Given the description of an element on the screen output the (x, y) to click on. 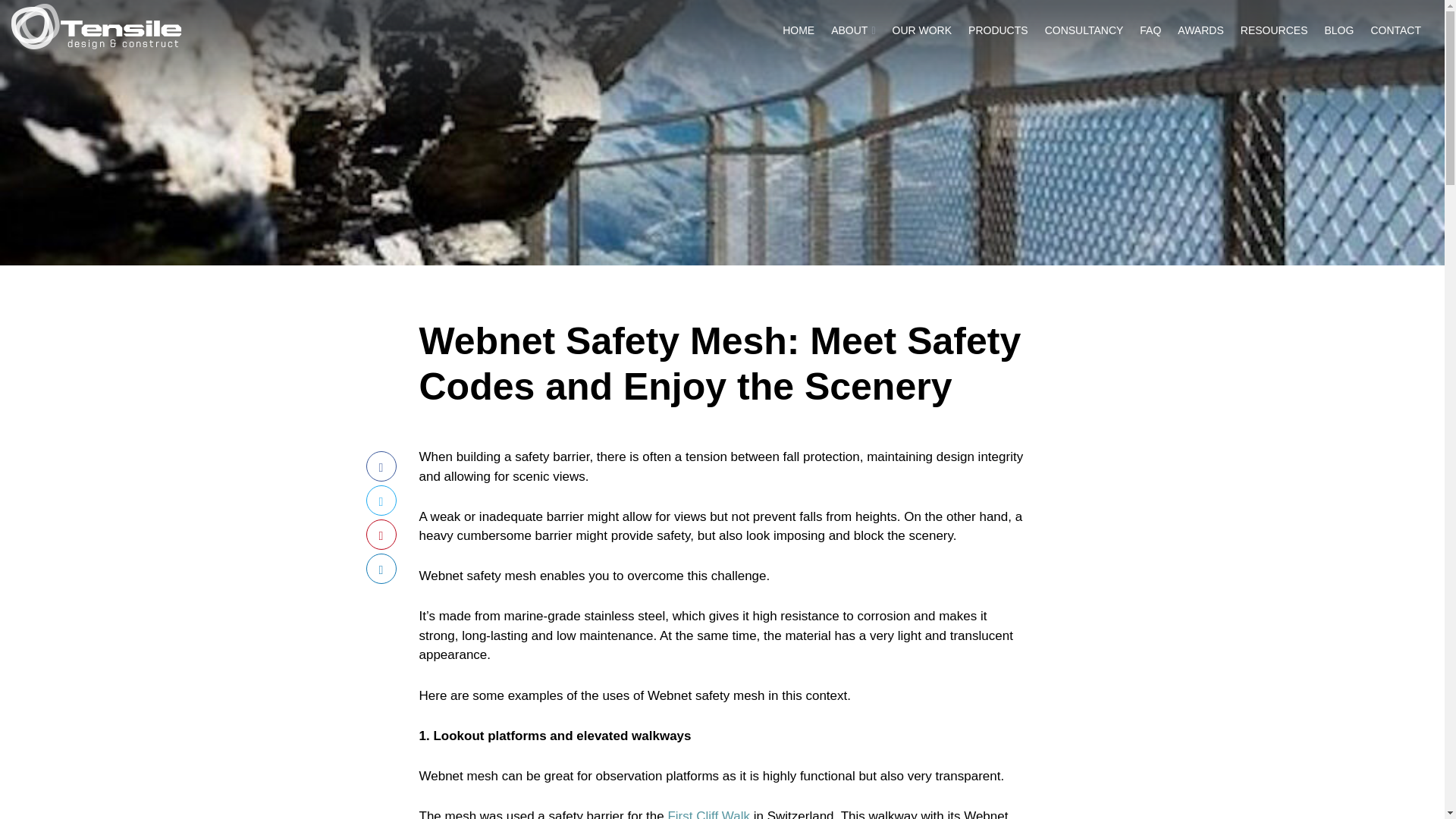
OUR WORK (921, 30)
FAQ (1150, 30)
Share on Facebook (380, 466)
HOME (798, 30)
PRODUCTS (997, 30)
ABOUT (853, 29)
Share on Pinterest (380, 534)
Share on Linkedin (380, 568)
CONTACT (1395, 30)
RESOURCES (1274, 30)
BLOG (1338, 30)
CONSULTANCY (1083, 30)
First Cliff Walk (707, 814)
Share on Twitter (380, 500)
AWARDS (1200, 30)
